Given the description of an element on the screen output the (x, y) to click on. 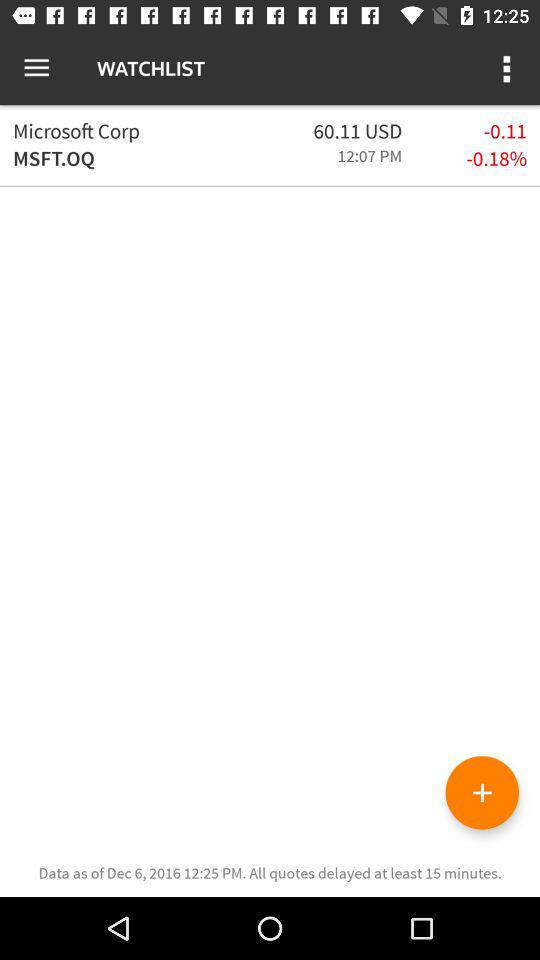
tap item above data as of (482, 792)
